Given the description of an element on the screen output the (x, y) to click on. 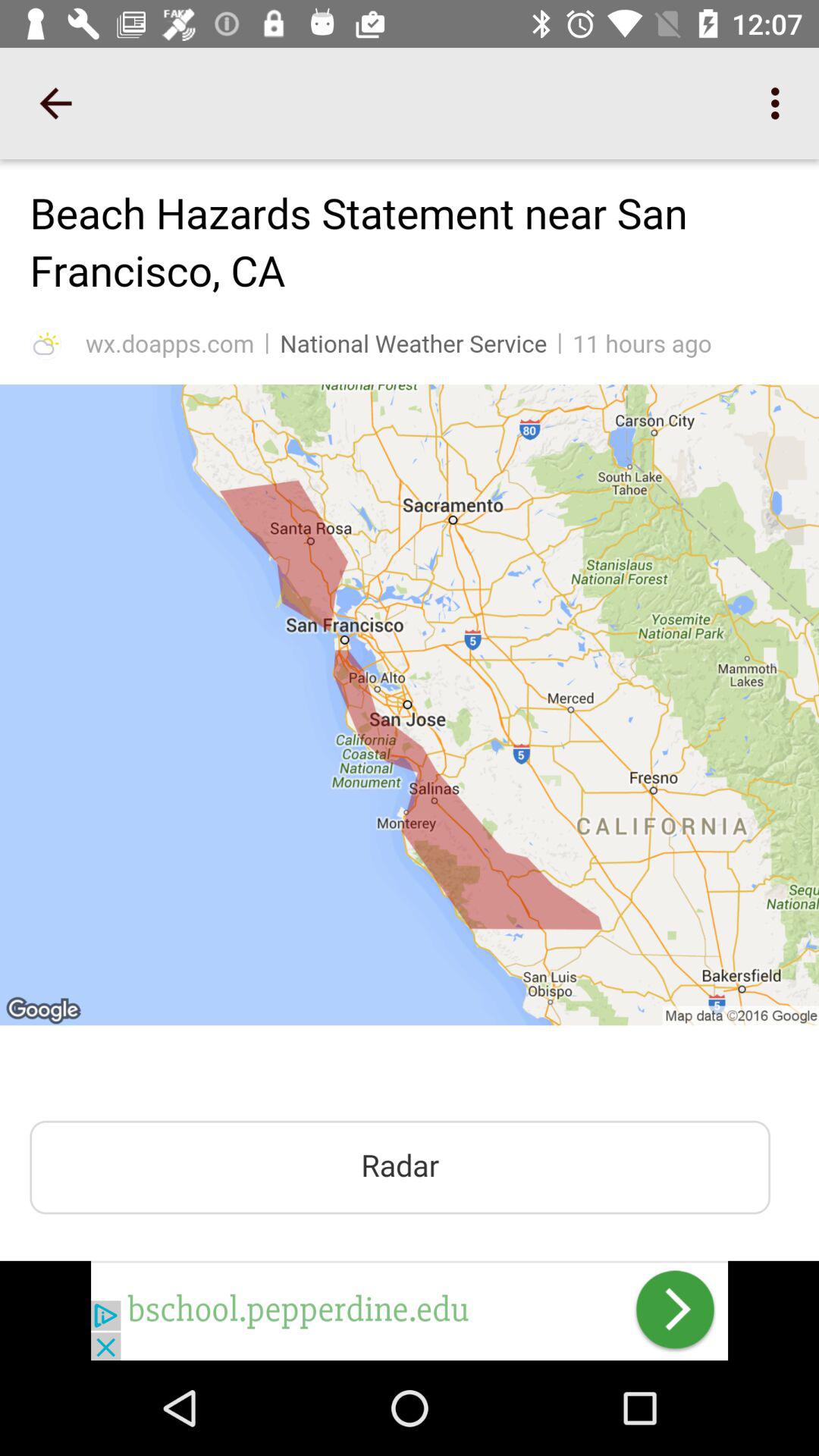
go to next (409, 1310)
